Given the description of an element on the screen output the (x, y) to click on. 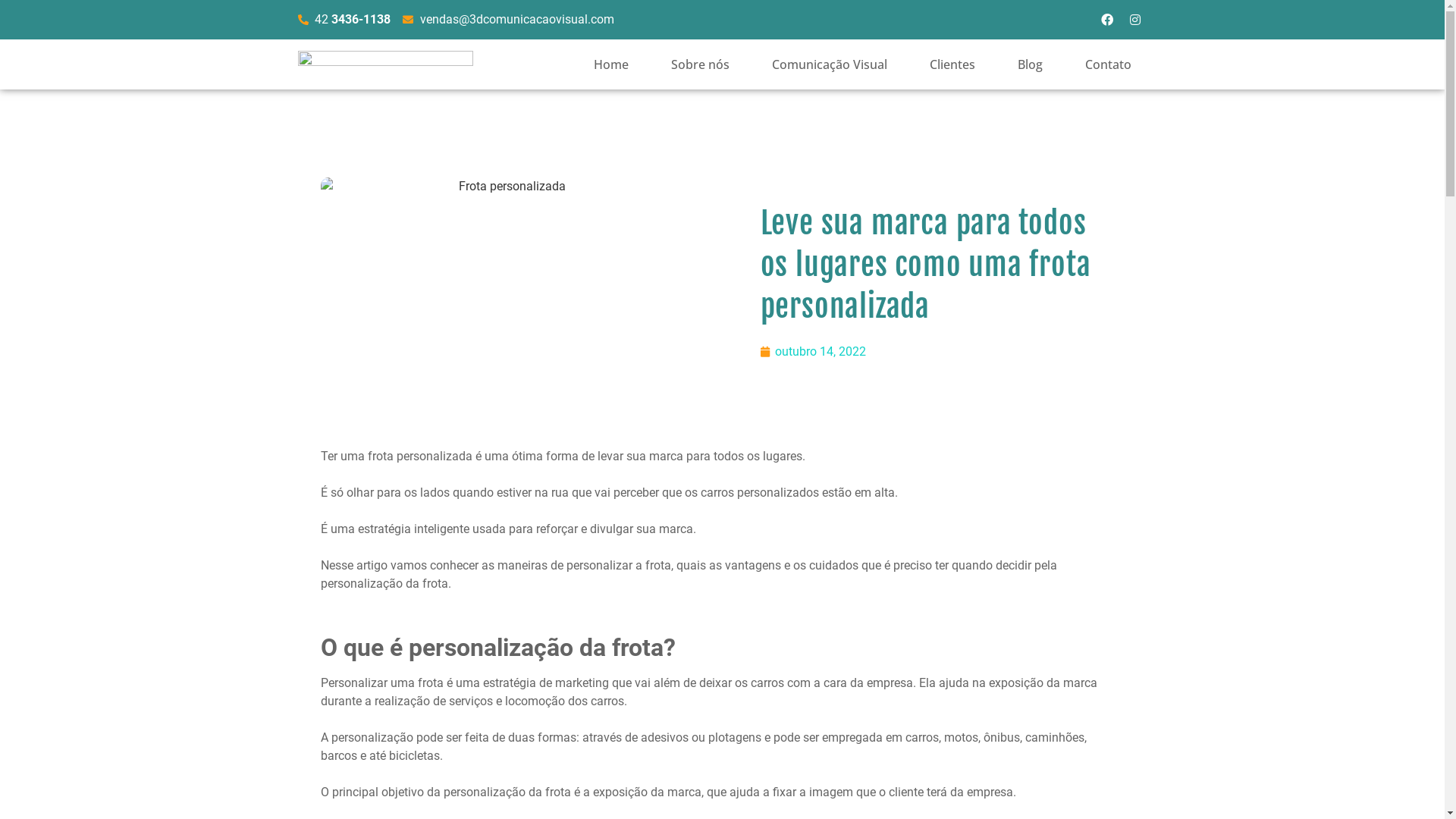
Blog Element type: text (1029, 64)
Contato Element type: text (1108, 64)
outubro 14, 2022 Element type: text (812, 351)
Clientes Element type: text (952, 64)
Home Element type: text (610, 64)
